Given the description of an element on the screen output the (x, y) to click on. 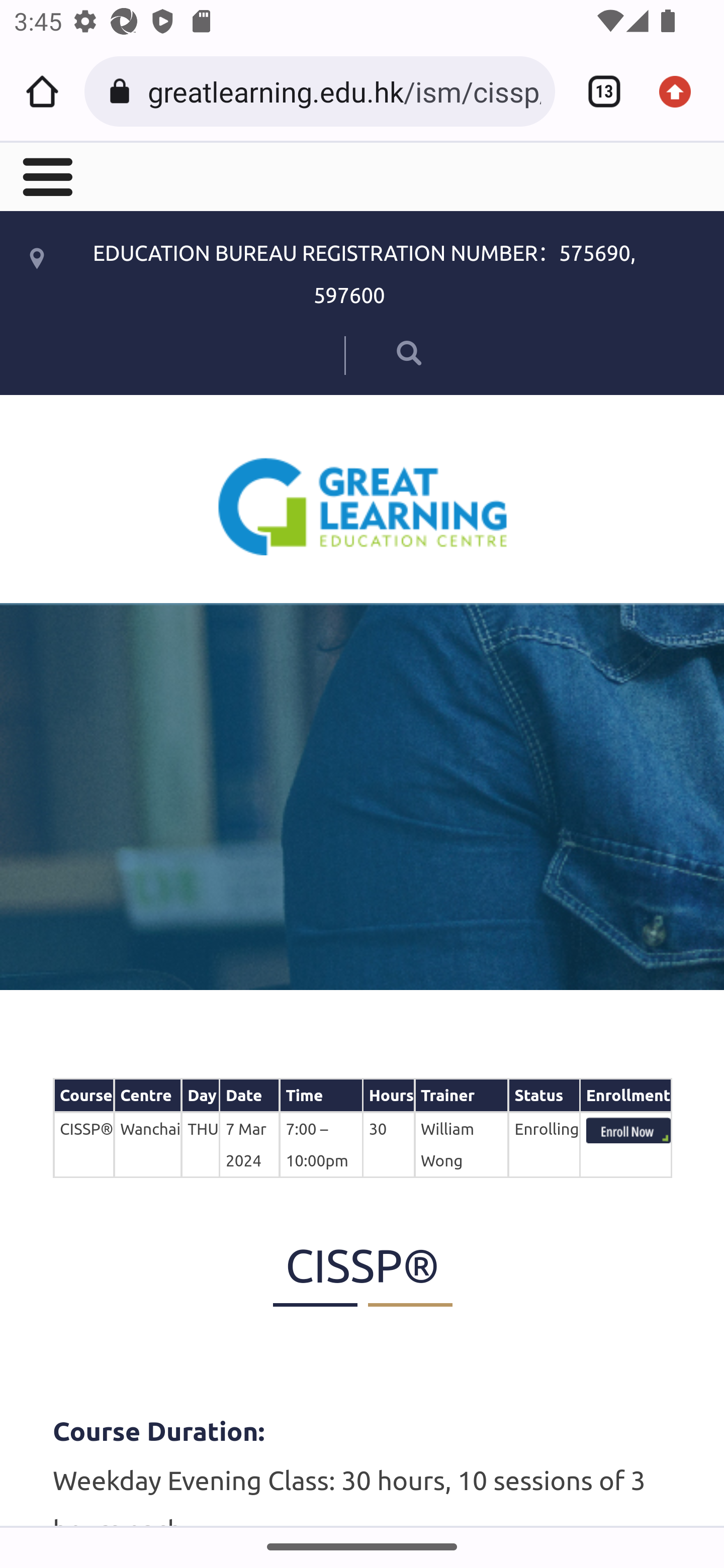
Home (42, 91)
Connection is secure (122, 91)
Switch or close tabs (597, 91)
Update available. More options (681, 91)
 (45, 175)
 (382, 351)
Welcome to Great Learning Education Centre (362, 505)
index (627, 1130)
